Given the description of an element on the screen output the (x, y) to click on. 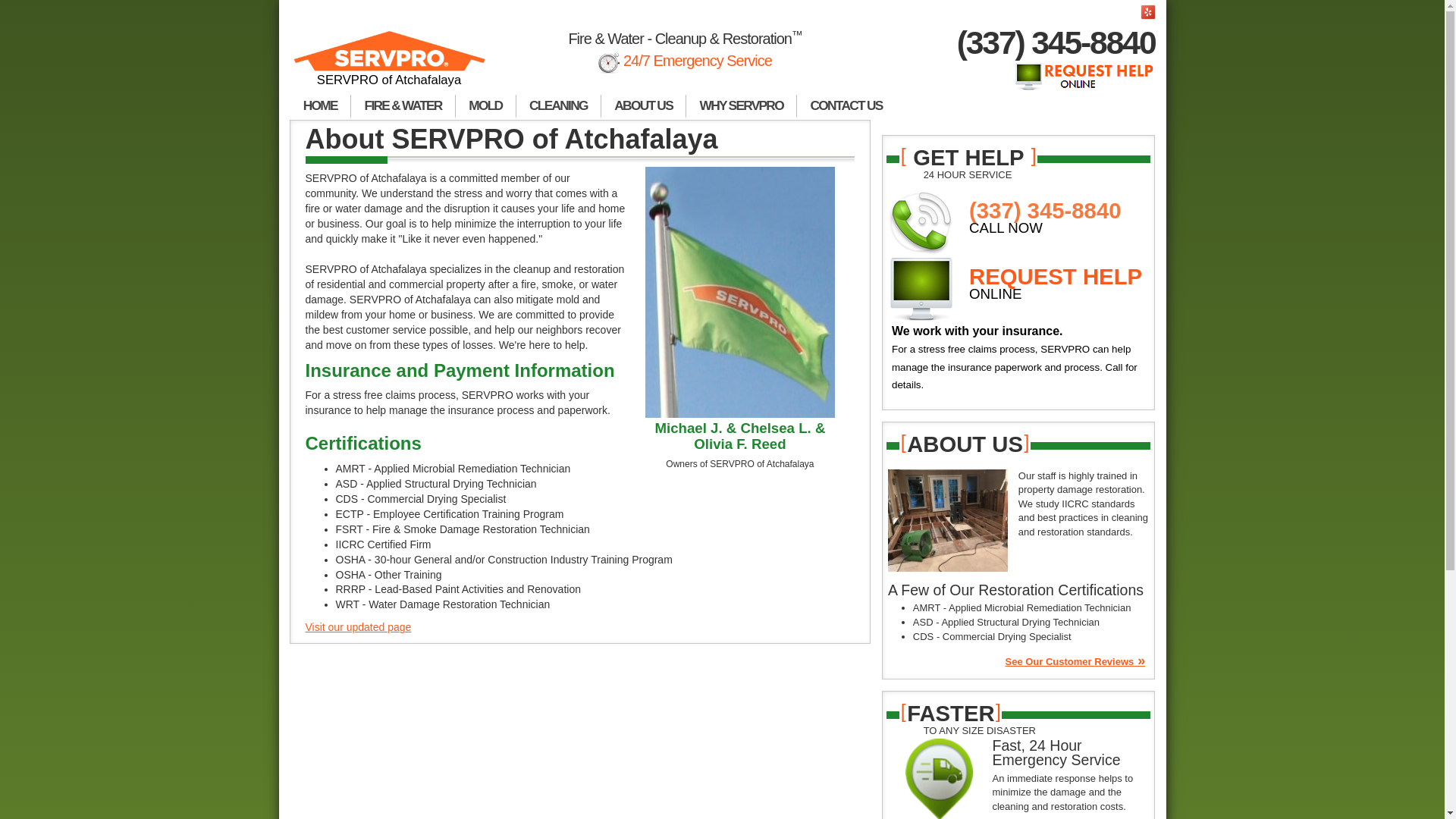
CLEANING (558, 106)
MOLD (485, 106)
ABOUT US (643, 106)
SERVPRO of Atchafalaya (389, 64)
HOME (319, 106)
